Given the description of an element on the screen output the (x, y) to click on. 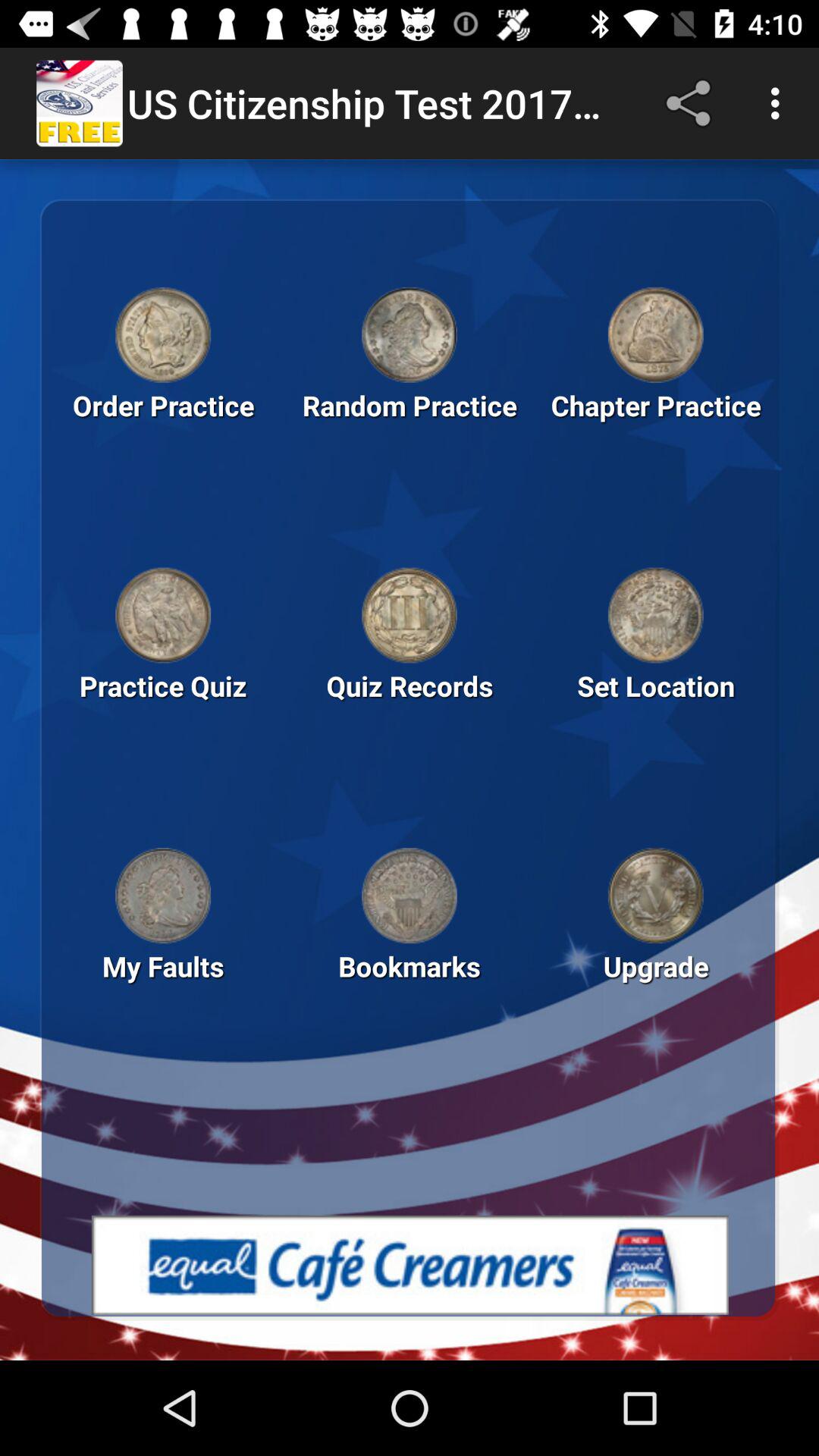
to go random preactice (409, 334)
